Given the description of an element on the screen output the (x, y) to click on. 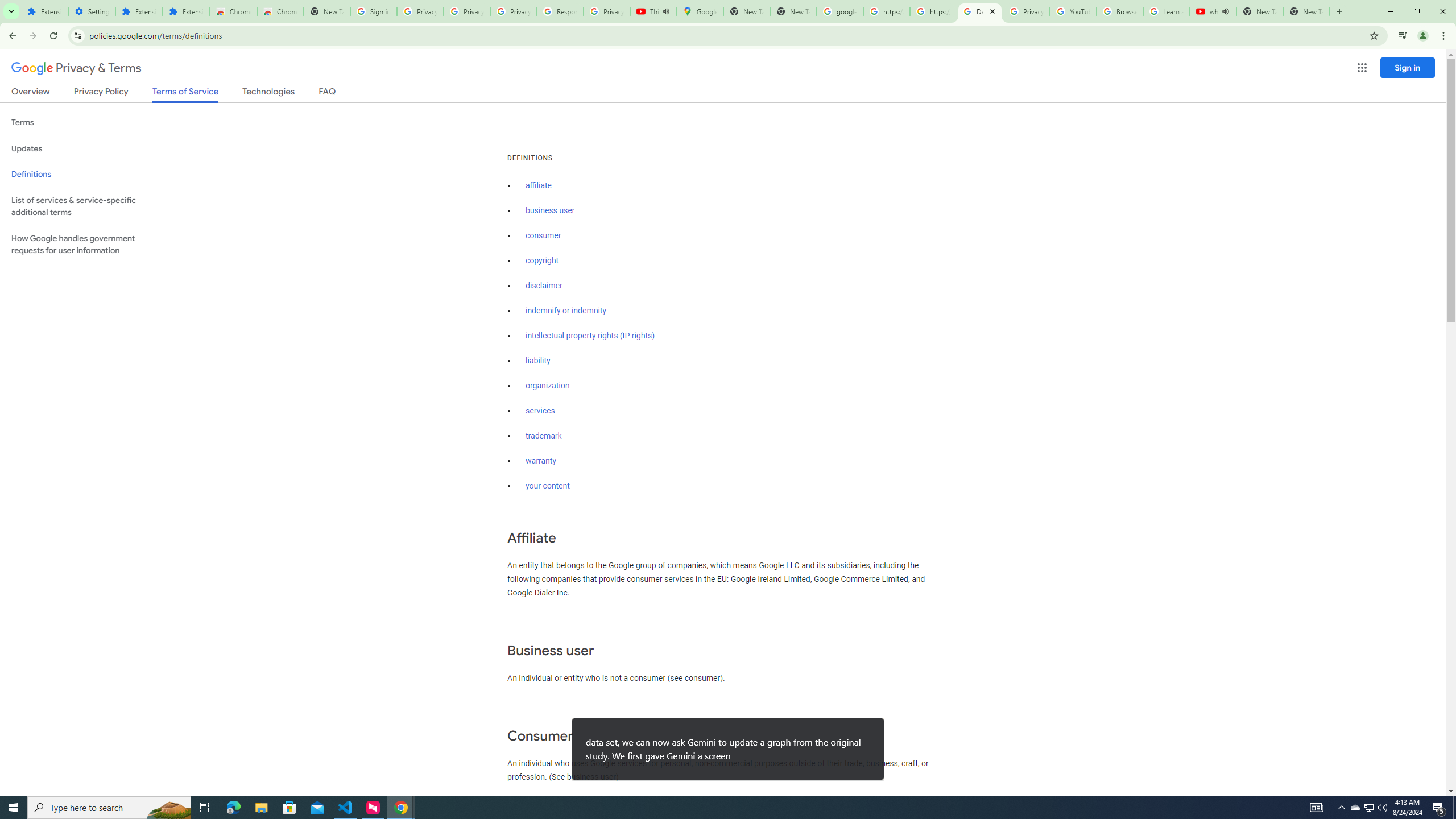
trademark (543, 435)
https://scholar.google.com/ (933, 11)
your content (547, 486)
Extensions (138, 11)
indemnify or indemnity (565, 311)
consumer (543, 235)
Extensions (44, 11)
YouTube (1073, 11)
Chrome Web Store - Themes (279, 11)
